Given the description of an element on the screen output the (x, y) to click on. 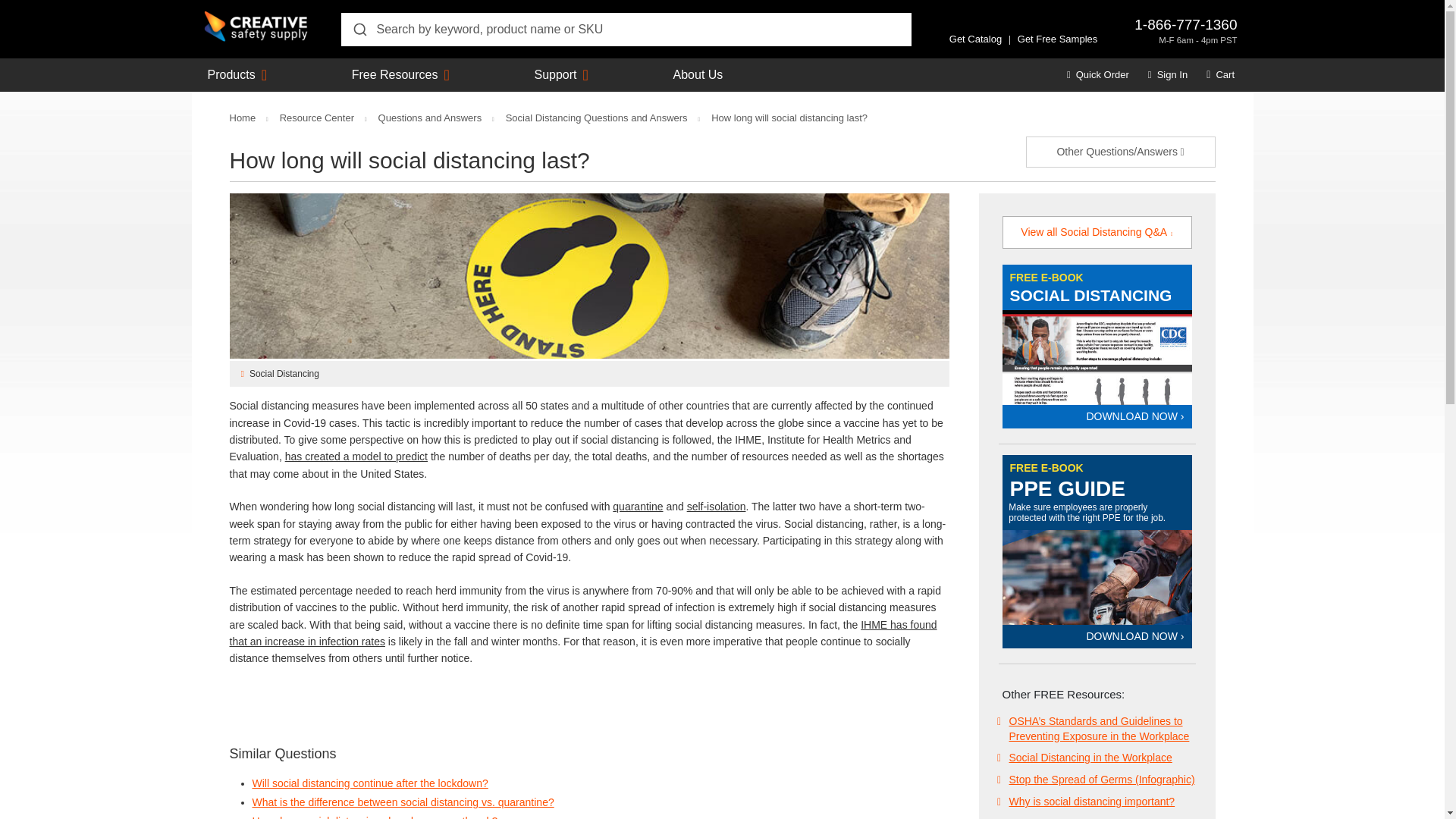
Products (232, 74)
1-866-777-1360 (1185, 24)
Get Catalog (975, 39)
Creative Safety Supply logo (255, 26)
Get Free Samples (1057, 39)
